Given the description of an element on the screen output the (x, y) to click on. 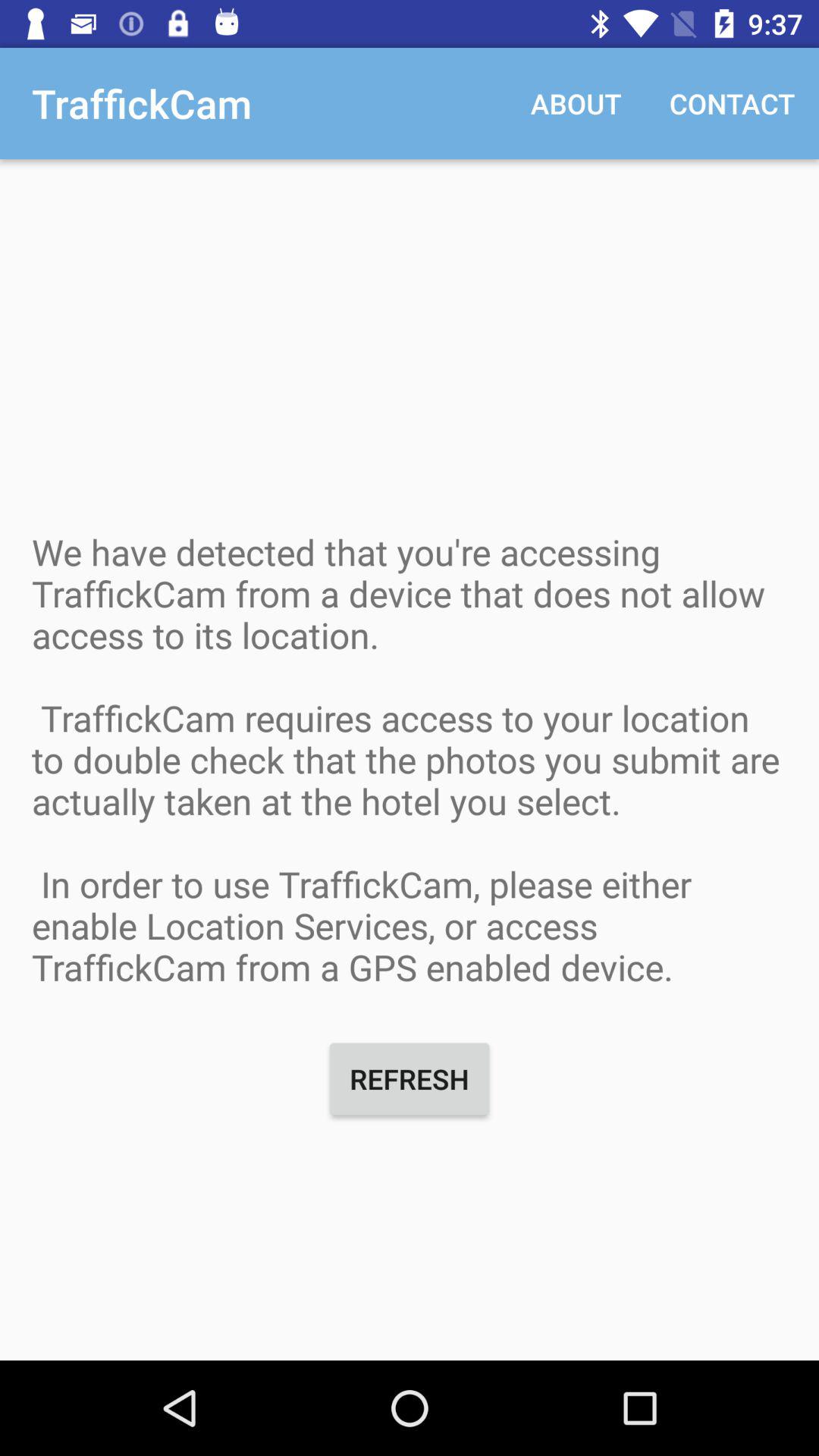
launch the item to the right of about item (732, 103)
